Given the description of an element on the screen output the (x, y) to click on. 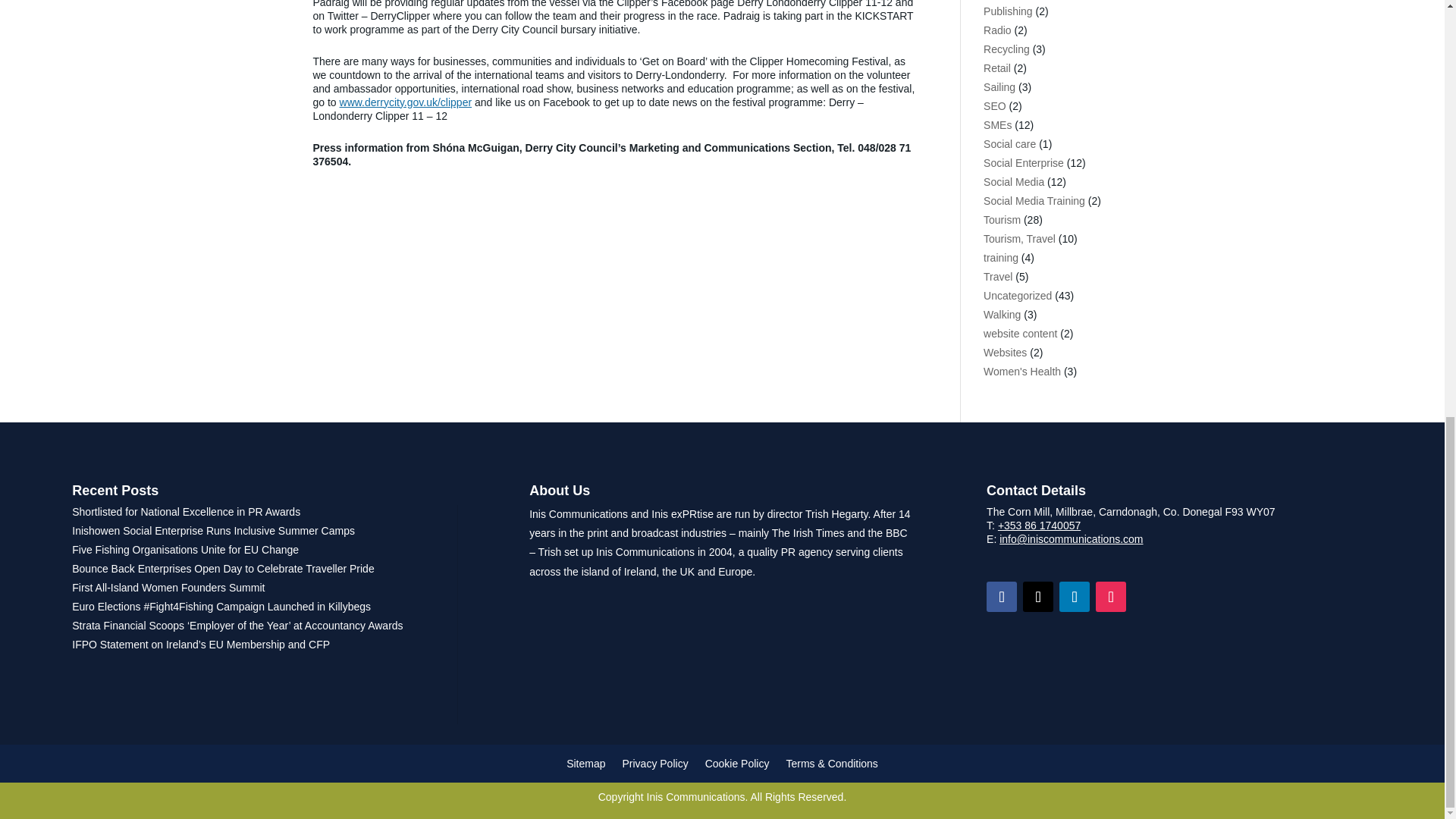
Follow on LinkedIn (1074, 596)
Follow on Facebook (1001, 596)
Follow on Instagram (1110, 596)
Follow on X (1037, 596)
